Given the description of an element on the screen output the (x, y) to click on. 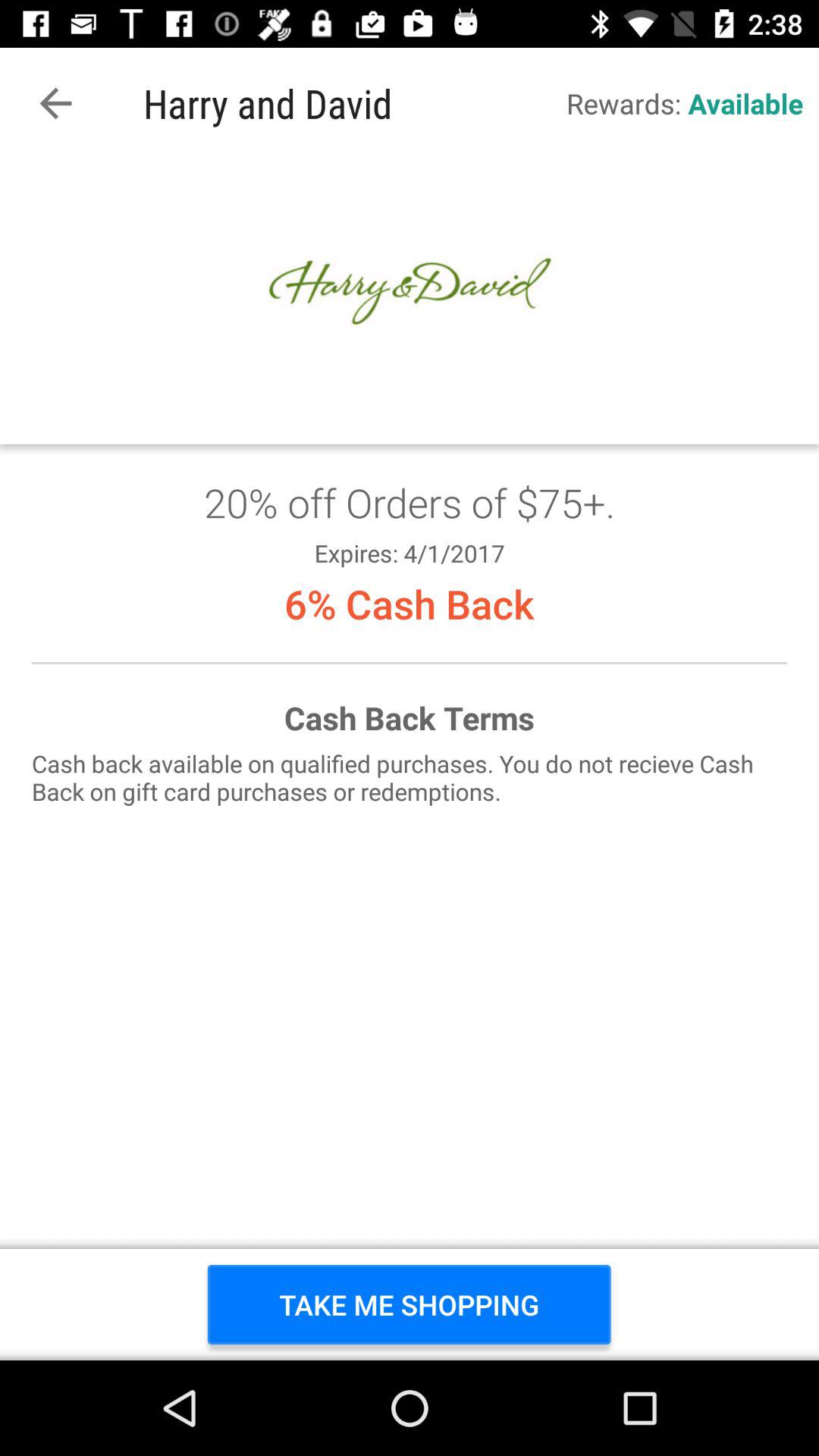
get coupon for 20 off orders of 75+ (409, 759)
